Given the description of an element on the screen output the (x, y) to click on. 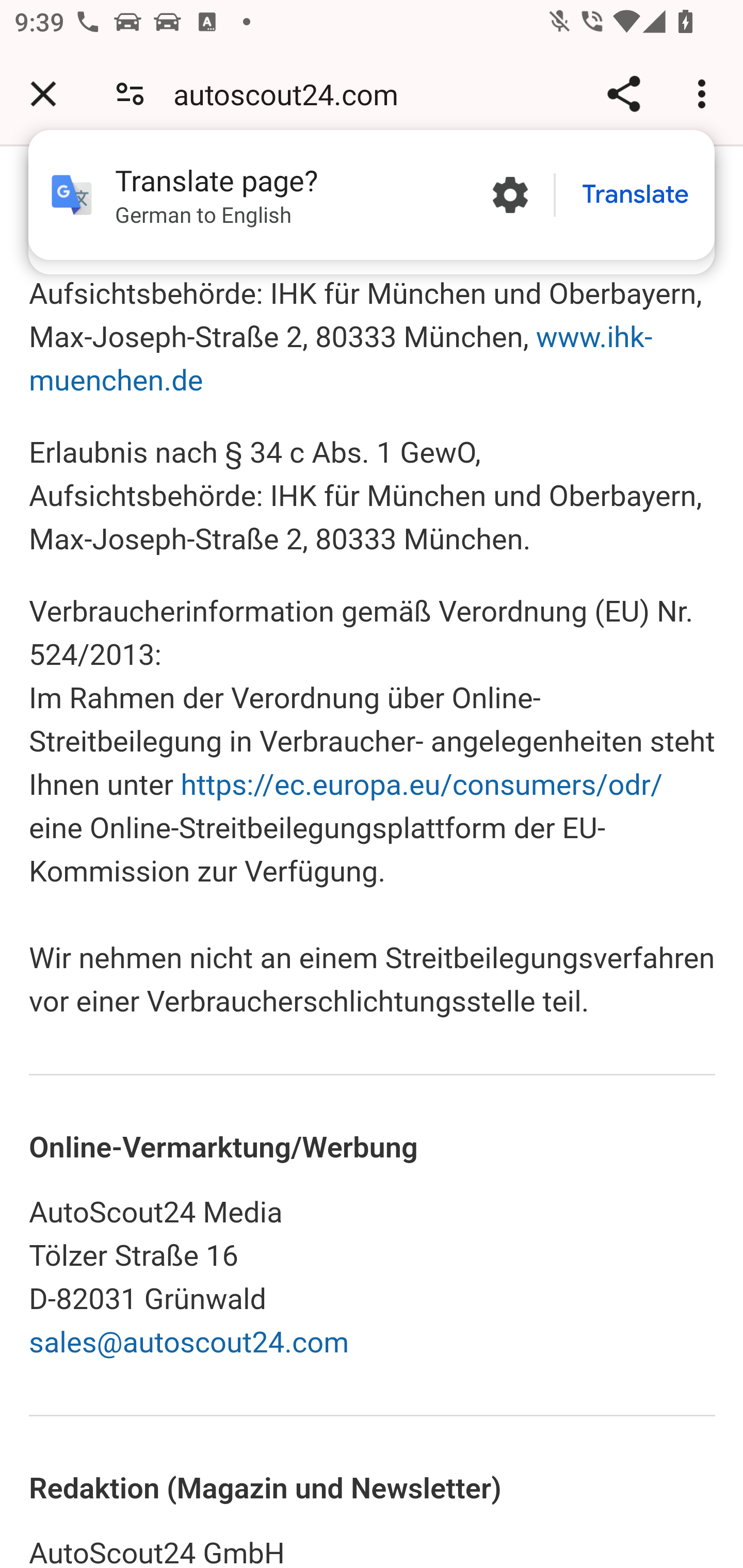
Close tab (43, 93)
Share (623, 93)
Customize and control Google Chrome (705, 93)
Connection is secure (129, 93)
autoscout24.com (293, 93)
Translate (634, 195)
More options in the Translate page? (509, 195)
www.ihk-muenchen.de (340, 358)
https://ec.europa.eu/consumers/odr/ (422, 784)
sales@autoscout24.com (189, 1342)
